Given the description of an element on the screen output the (x, y) to click on. 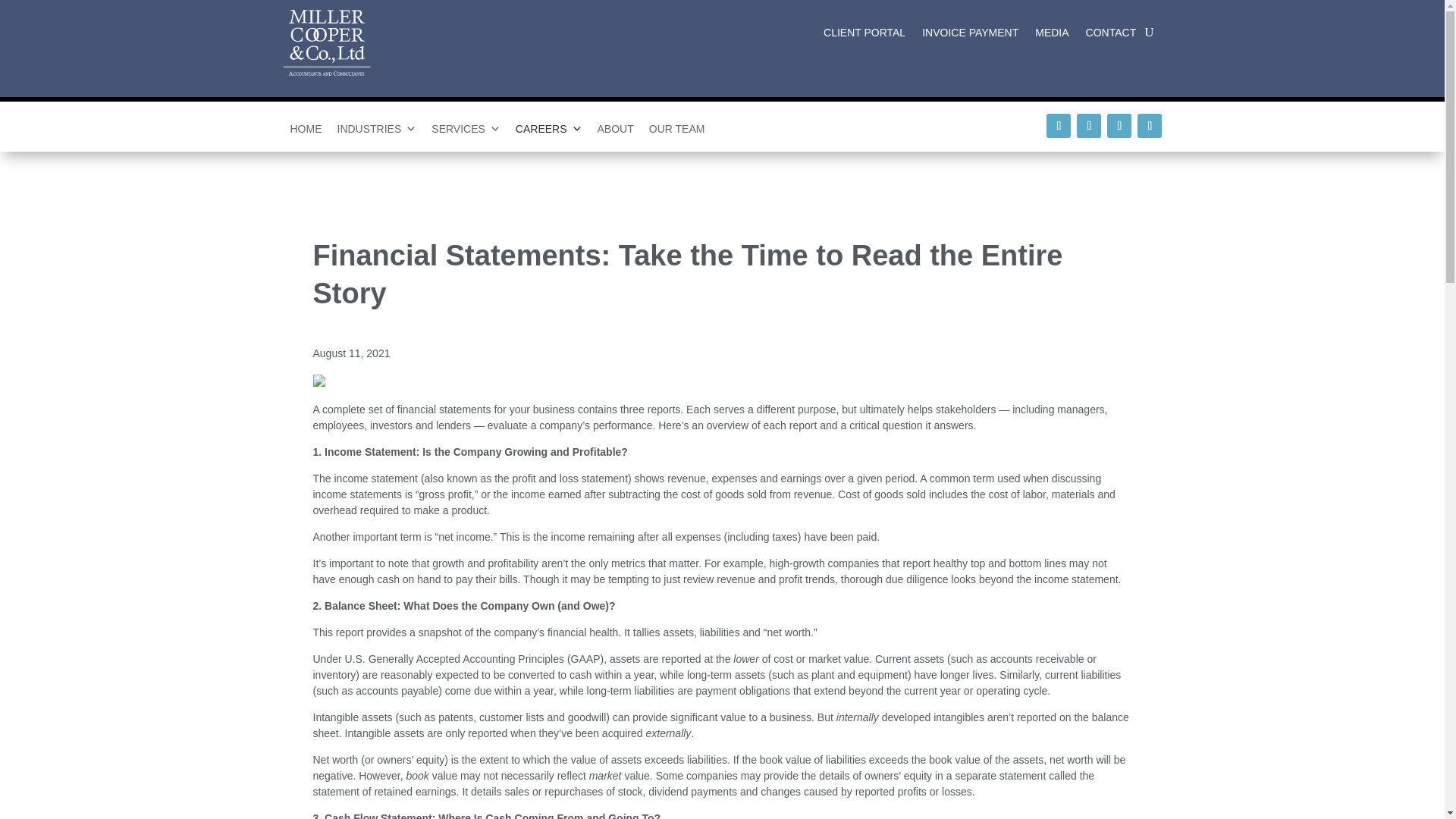
CLIENT PORTAL (864, 35)
HOME (305, 128)
SERVICES (465, 128)
CONTACT (1111, 35)
INDUSTRIES (376, 128)
millercooper-white (325, 39)
Follow on LinkedIn (1149, 125)
Follow on Instagram (1118, 125)
Follow on Facebook (1058, 125)
MEDIA (1051, 35)
